Given the description of an element on the screen output the (x, y) to click on. 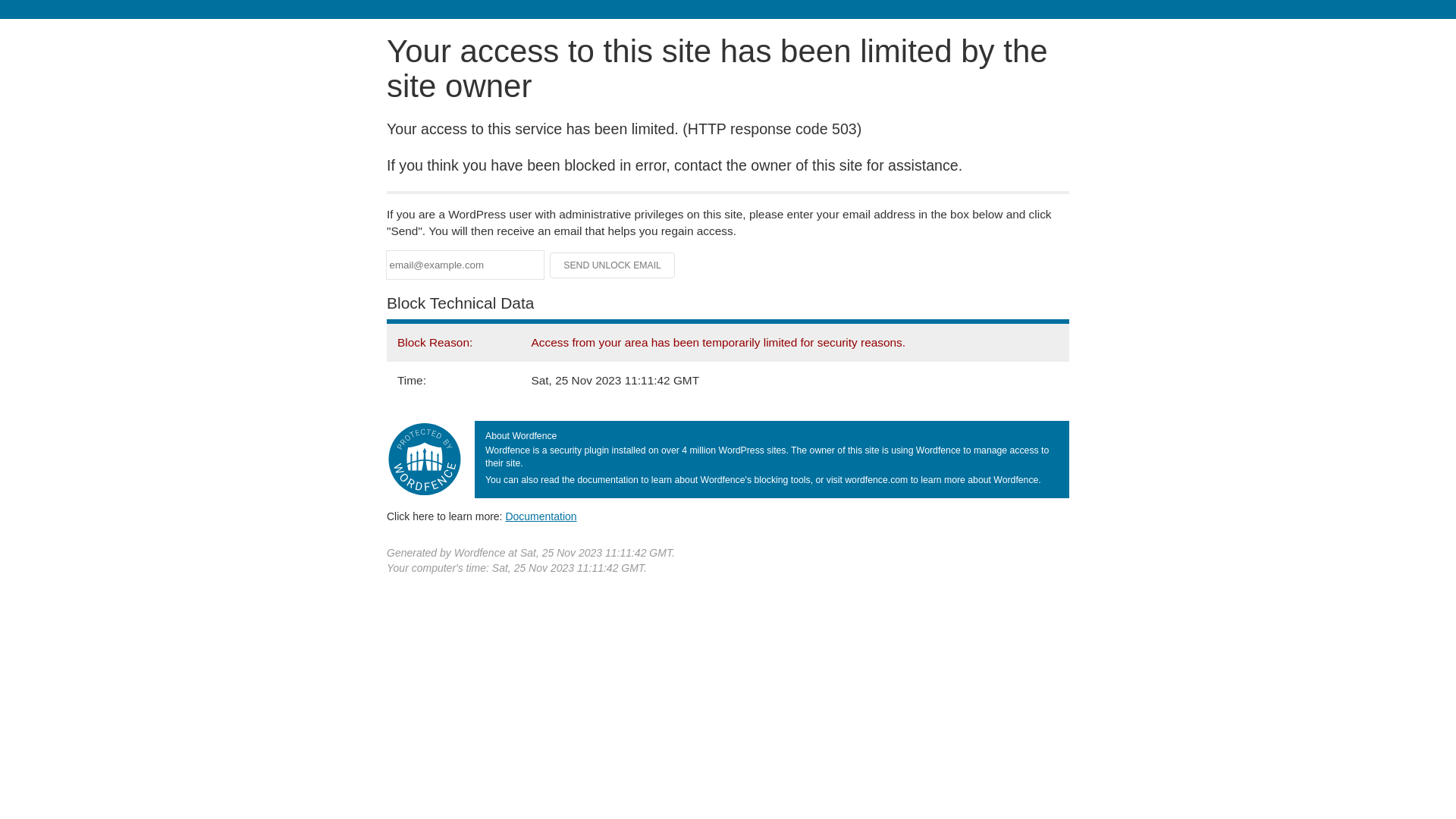
Send Unlock Email Element type: text (612, 265)
Documentation Element type: text (540, 516)
